Given the description of an element on the screen output the (x, y) to click on. 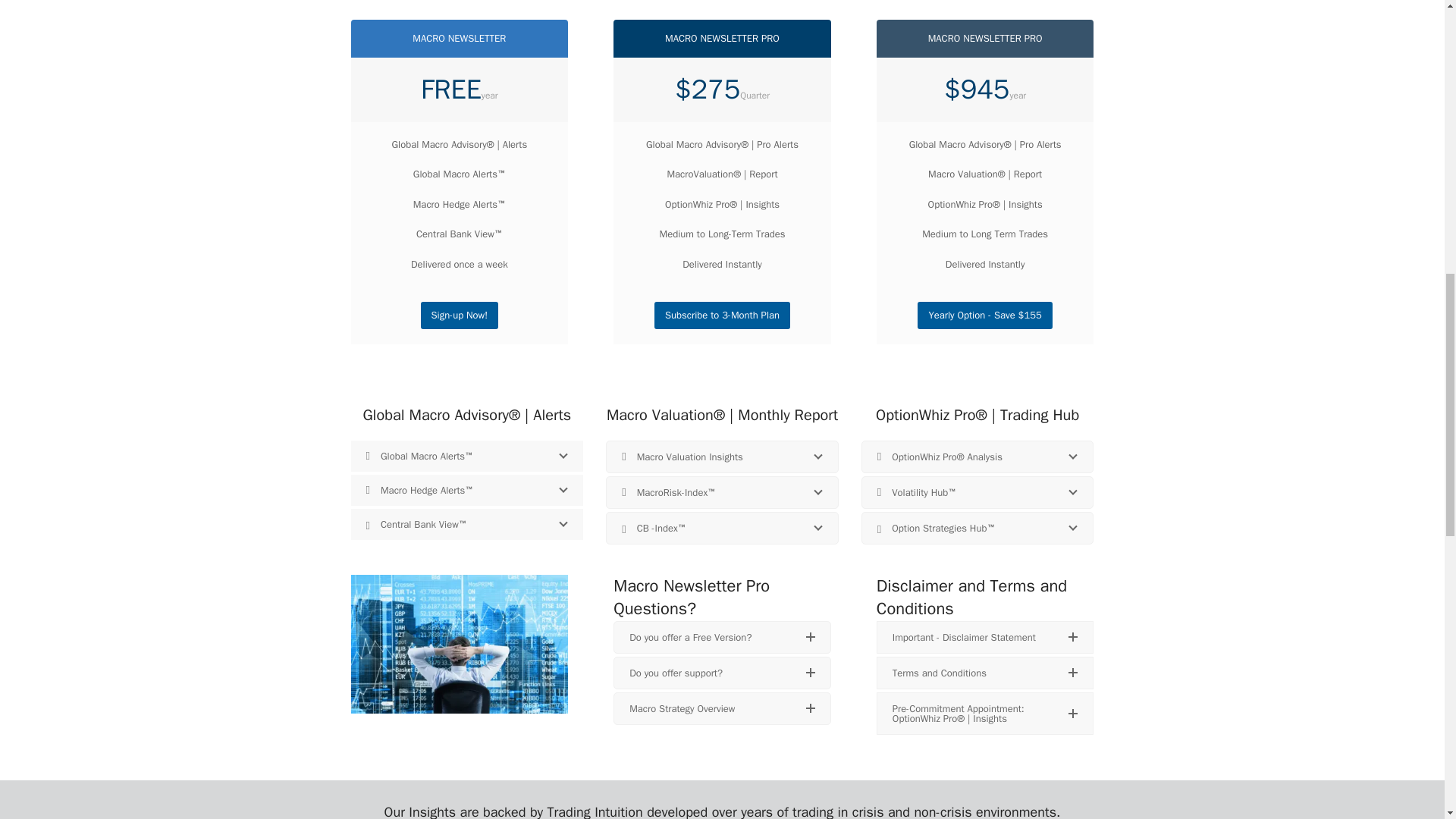
Macro Strategy Overview (721, 707)
Do you offer a Free Version? (721, 636)
Do you offer support? (721, 672)
Important - Disclaimer Statement (985, 636)
Terms and Conditions (985, 672)
Login (721, 315)
Login (984, 315)
Sign-up Now! (459, 315)
GMA Macro Alerts Plan (459, 315)
